Given the description of an element on the screen output the (x, y) to click on. 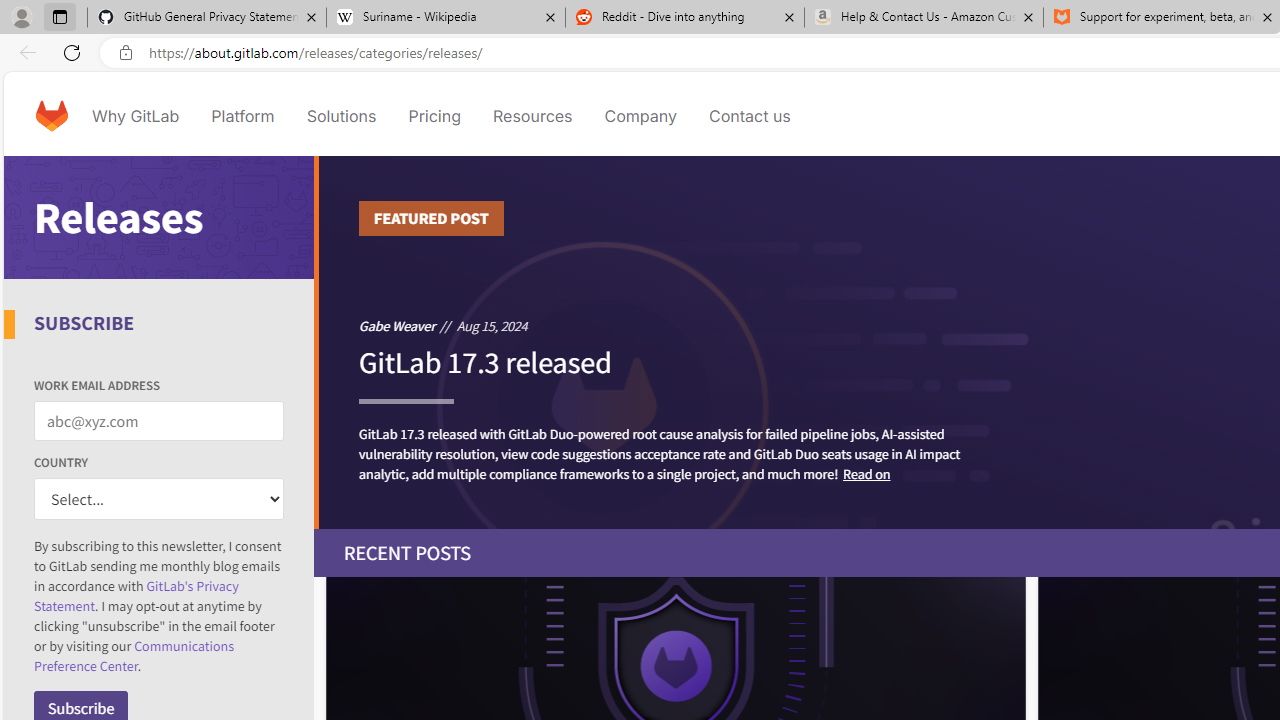
Suriname - Wikipedia (445, 17)
Company (640, 115)
WORK EMAIL ADDRESS (159, 421)
Gabe Weaver (397, 325)
GitLab's Privacy Statement (136, 596)
Solutions (341, 115)
Why GitLab (136, 115)
Resources (532, 115)
Contact us (749, 115)
GitHub General Privacy Statement - GitHub Docs (207, 17)
COUNTRY (159, 499)
Solutions (341, 115)
Why GitLab (136, 115)
